Given the description of an element on the screen output the (x, y) to click on. 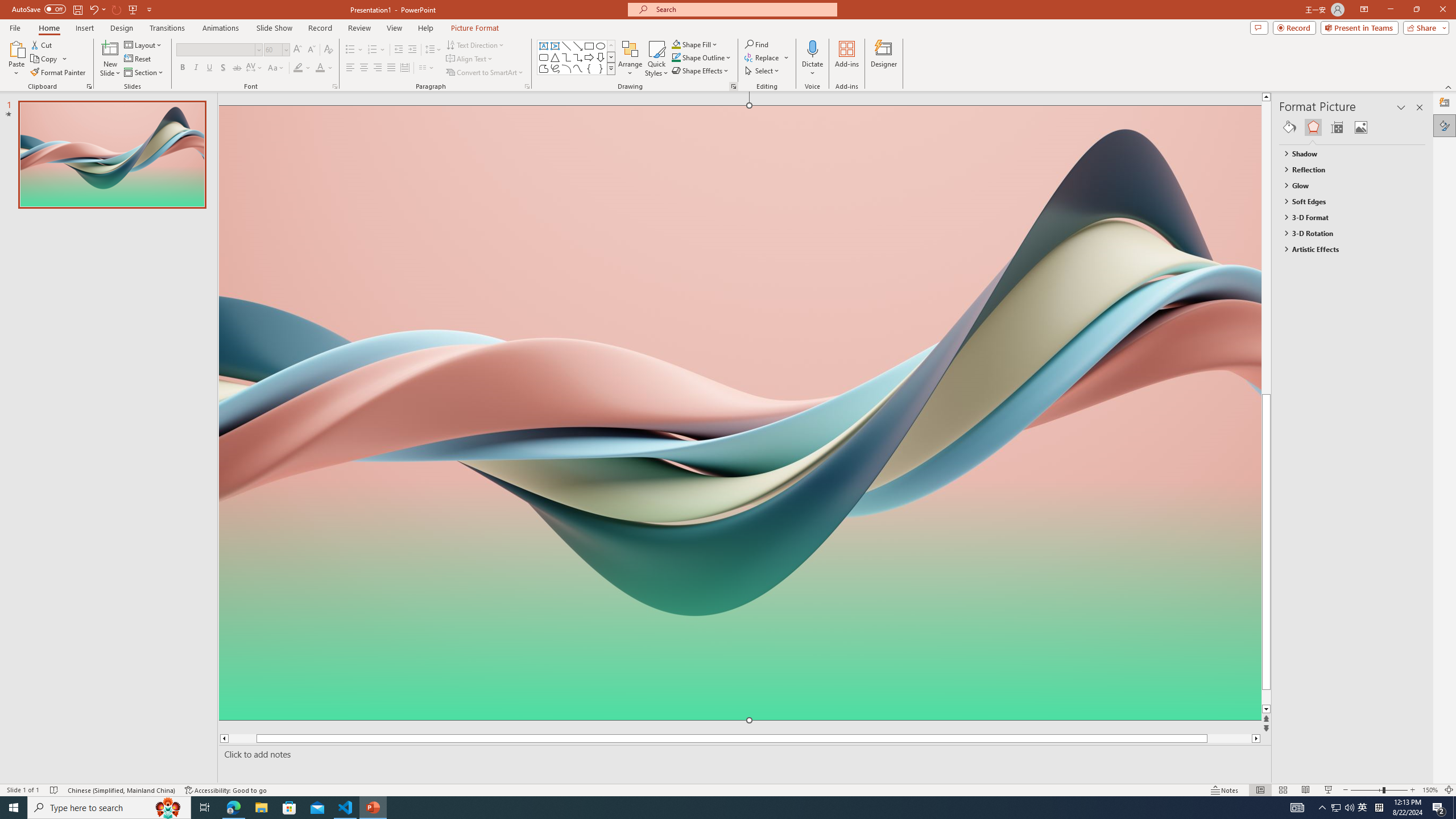
Shape Fill Orange, Accent 2 (675, 44)
